Given the description of an element on the screen output the (x, y) to click on. 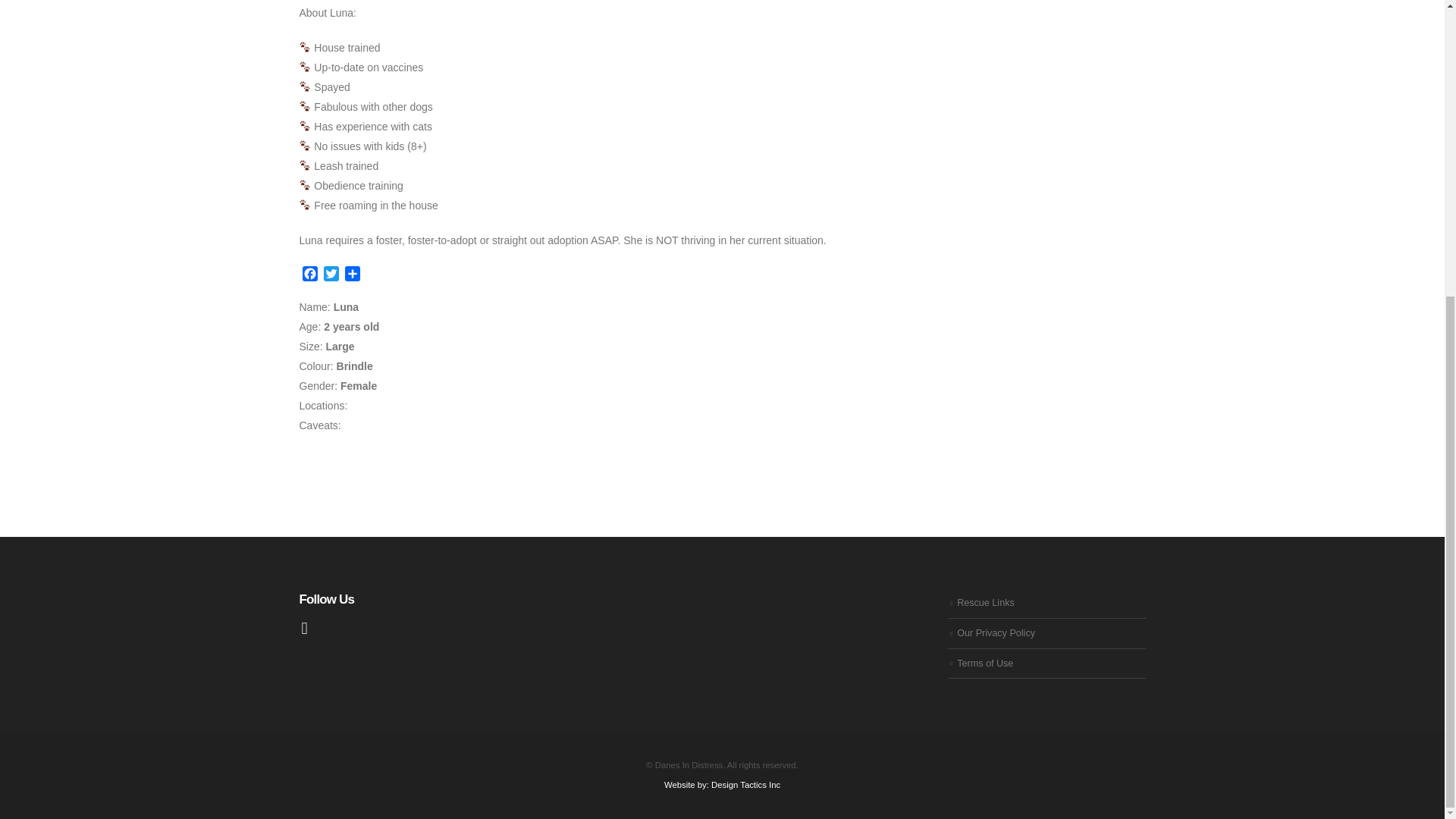
Twitter (330, 275)
Facebook (309, 275)
